Given the description of an element on the screen output the (x, y) to click on. 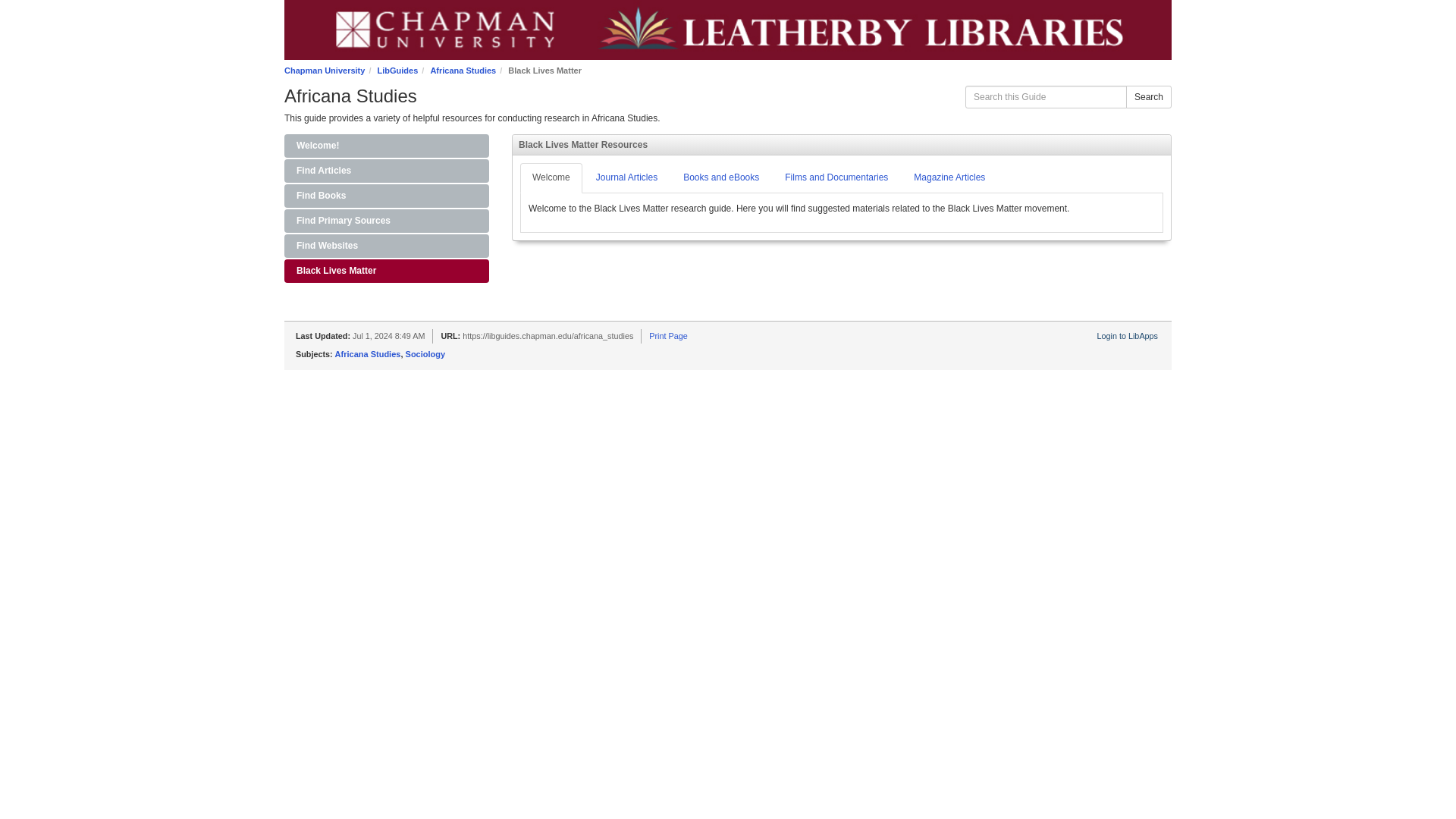
Find Books (386, 196)
Black Lives Matter (386, 270)
Africana Studies (462, 70)
Search (1148, 96)
Find Articles (386, 170)
Find Primary Sources (386, 220)
Journal Articles (626, 177)
Books and eBooks (721, 177)
Welcome (550, 177)
Welcome! (386, 146)
Chapman University (324, 70)
Find Websites (386, 245)
Films and Documentaries (836, 177)
Magazine Articles (949, 177)
LibGuides (398, 70)
